Given the description of an element on the screen output the (x, y) to click on. 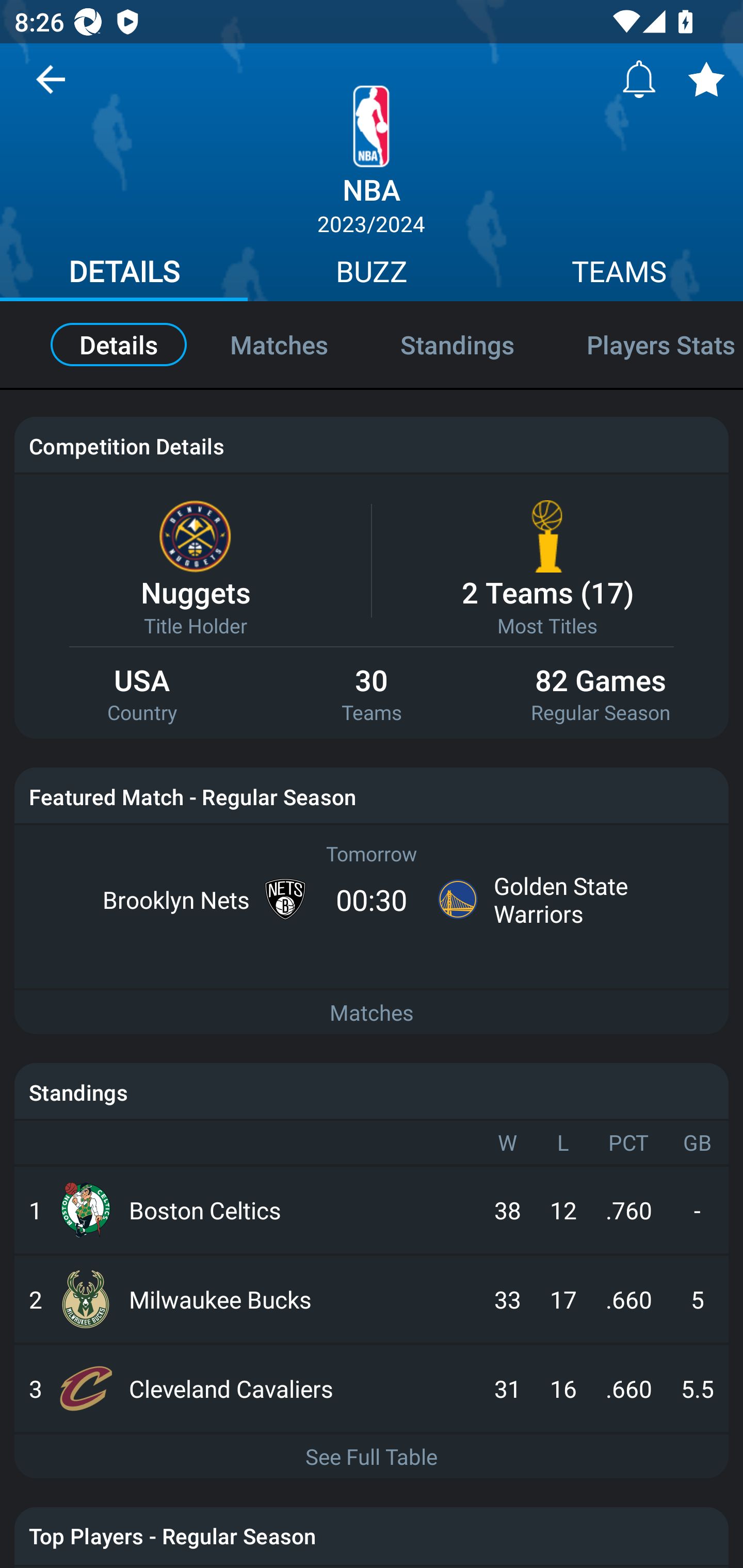
Navigate up (50, 86)
DETAILS (123, 274)
BUZZ (371, 274)
TEAMS (619, 274)
Matches (278, 344)
Standings (457, 344)
Players Stats (646, 344)
Nuggets (195, 591)
2 Teams (17) (547, 591)
Title Holder (195, 625)
Most Titles (547, 625)
30 Teams (371, 694)
82 Games Regular Season (600, 694)
Tomorrow Brooklyn Nets 00:30 Golden State Warriors (371, 885)
Matches (371, 1012)
1 Boston Celtics 38 12 .760 - (371, 1209)
2 Milwaukee Bucks 33 17 .660 5 (371, 1298)
3 Cleveland Cavaliers 31 16 .660 5.5 (371, 1388)
See Full Table (371, 1456)
Top Players - Regular Season (371, 1535)
